Given the description of an element on the screen output the (x, y) to click on. 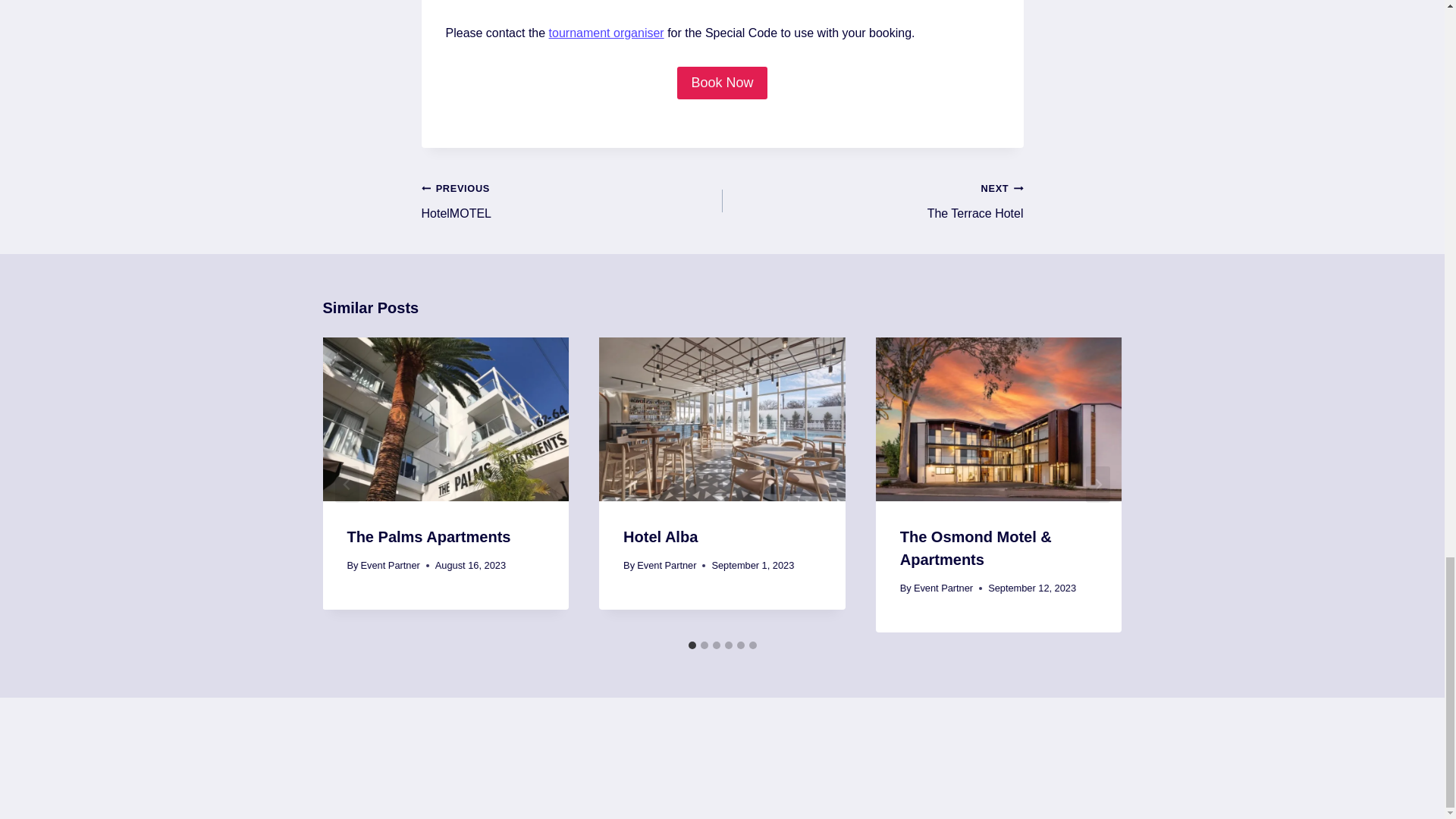
tournament organiser (605, 32)
Book Now (722, 82)
